Given the description of an element on the screen output the (x, y) to click on. 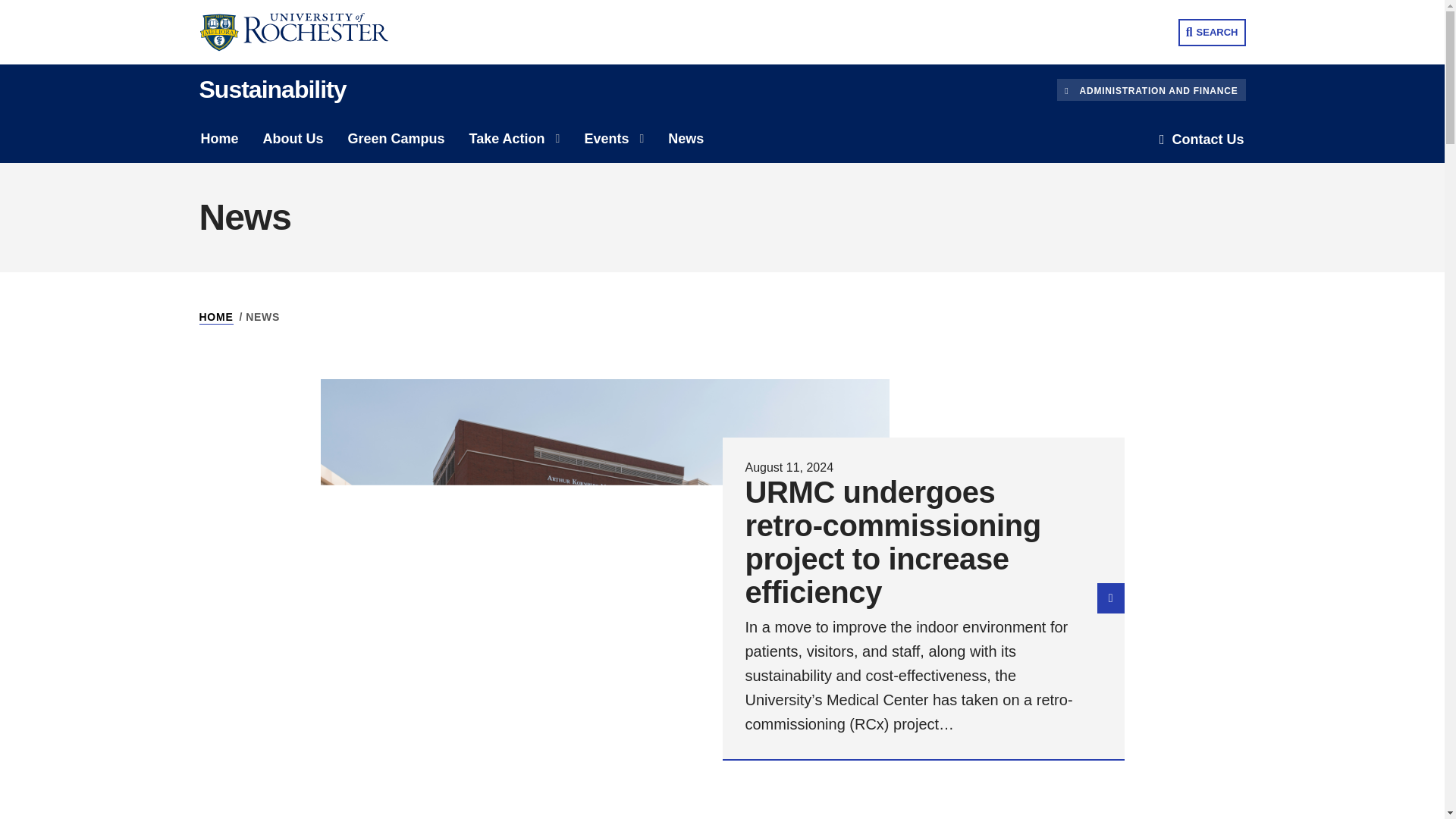
HOME (215, 317)
ADMINISTRATION AND FINANCE (1150, 89)
University of Rochester Homepage (304, 32)
News (686, 138)
About Us (293, 138)
Home (218, 138)
Sustainability (272, 89)
Contact Us (1201, 139)
SEARCH (1211, 31)
Green Campus (396, 138)
